Given the description of an element on the screen output the (x, y) to click on. 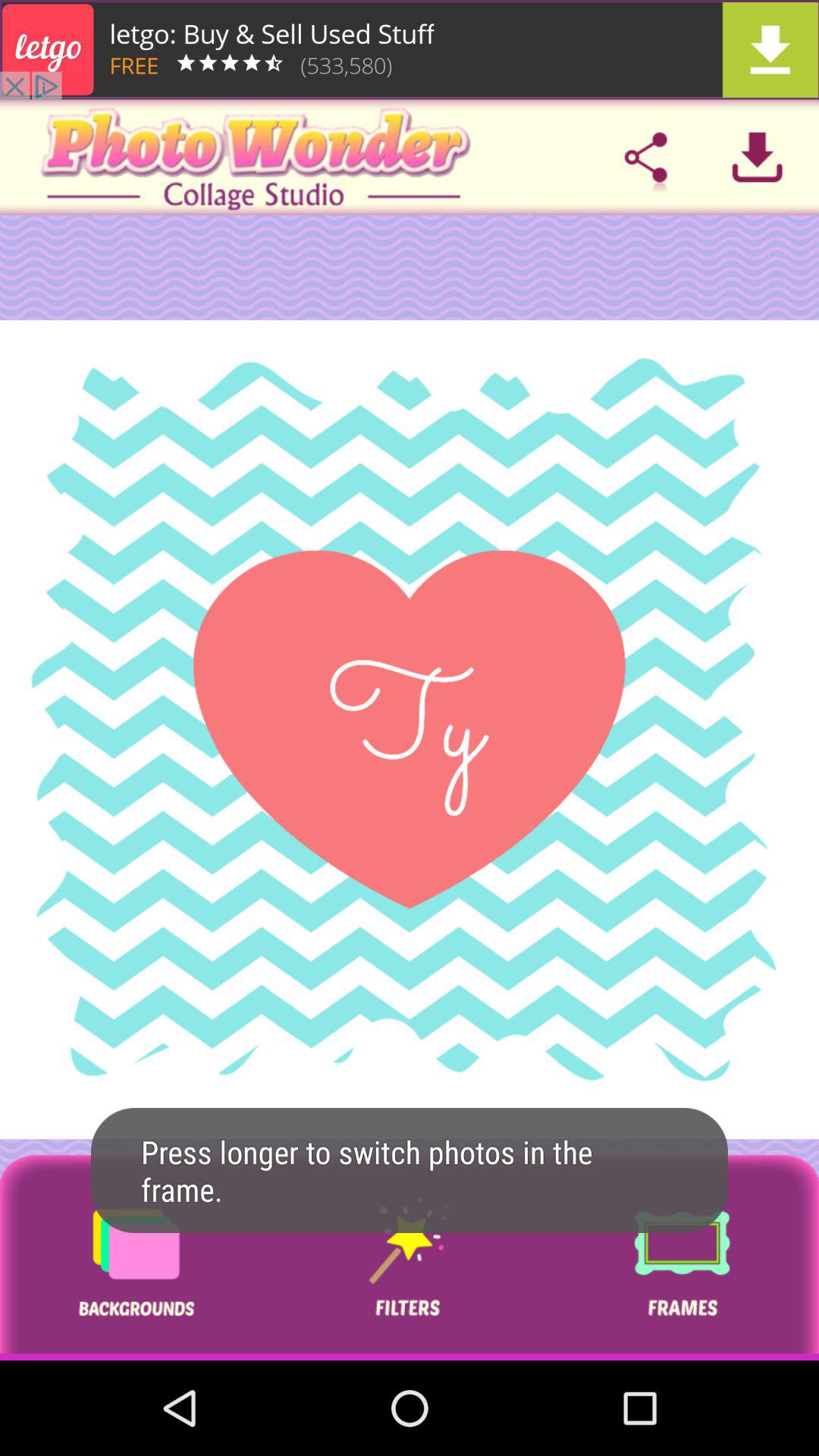
open filters (408, 1257)
